Given the description of an element on the screen output the (x, y) to click on. 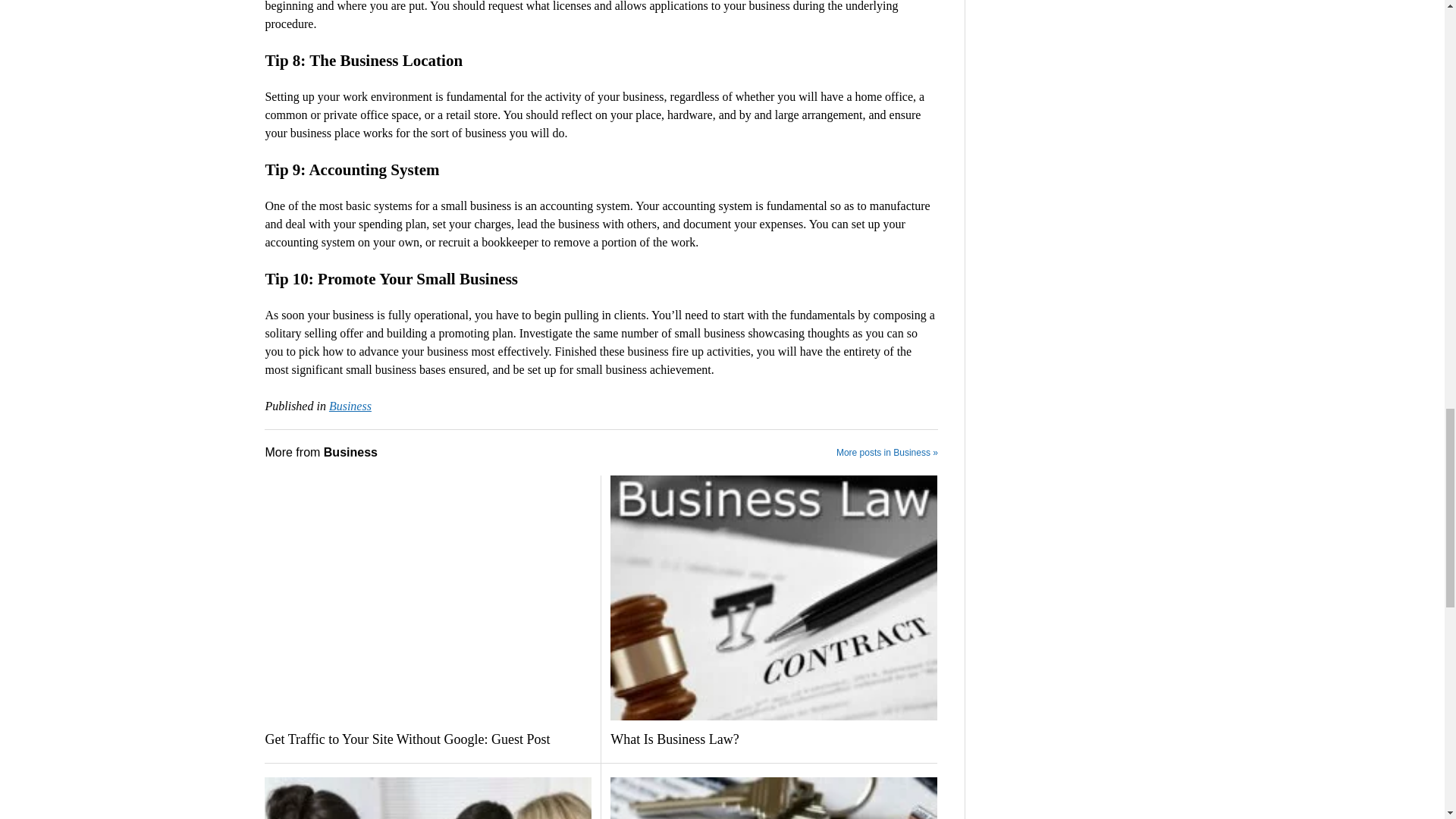
View all posts in Business (350, 405)
What Is Business Law? (773, 740)
Business (350, 405)
Get Traffic to Your Site Without Google: Guest Post (427, 740)
